Given the description of an element on the screen output the (x, y) to click on. 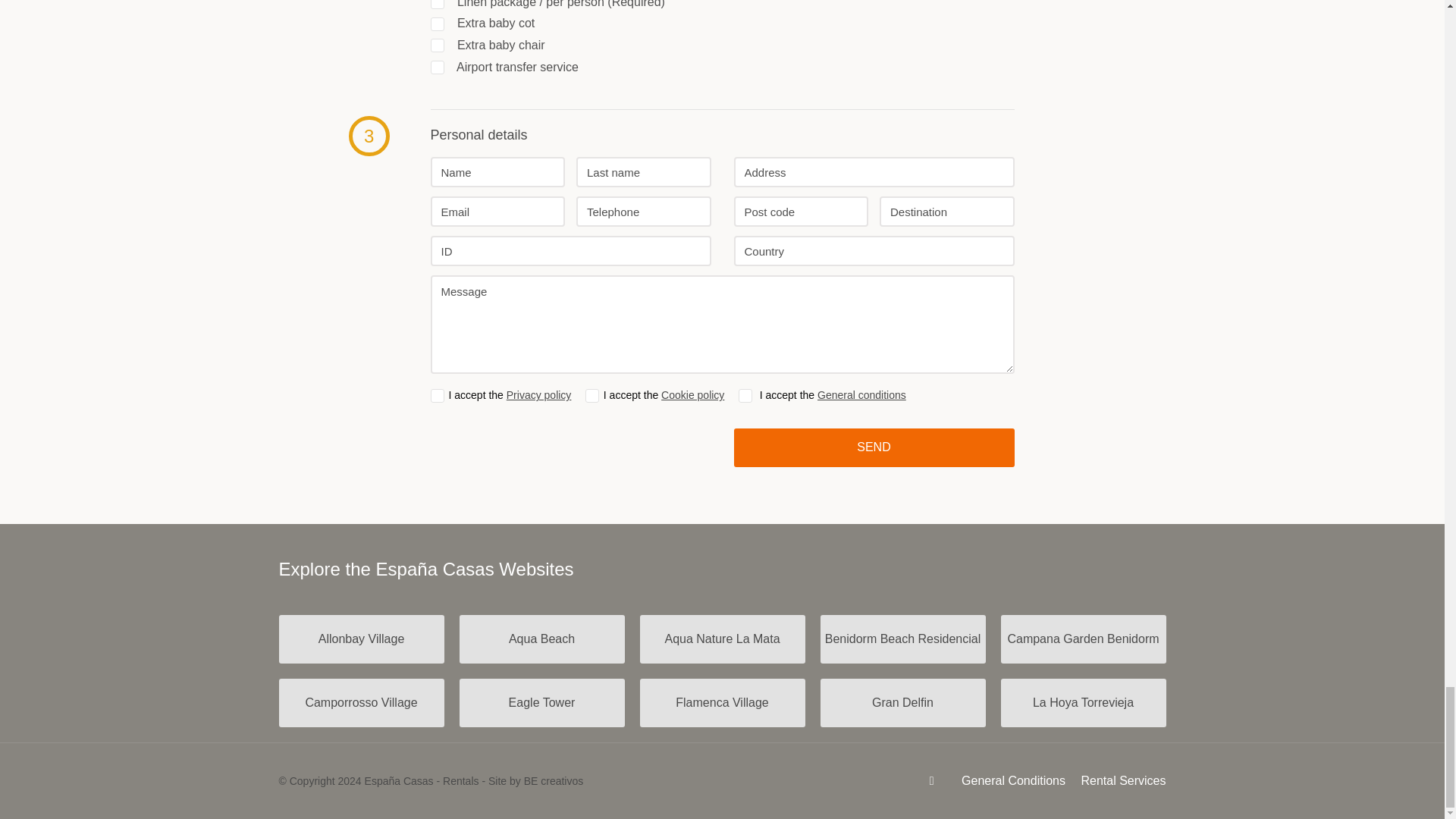
Send (873, 447)
Benidorm Beach Residencial (903, 639)
Allonbay Village (361, 639)
Aqua Beach (542, 639)
Eagle Tower (542, 702)
Campana Garden Benidorm (1083, 639)
Camporrosso Village (361, 702)
Flamenca Village  (722, 702)
Aqua Nature La Mata (722, 639)
